Given the description of an element on the screen output the (x, y) to click on. 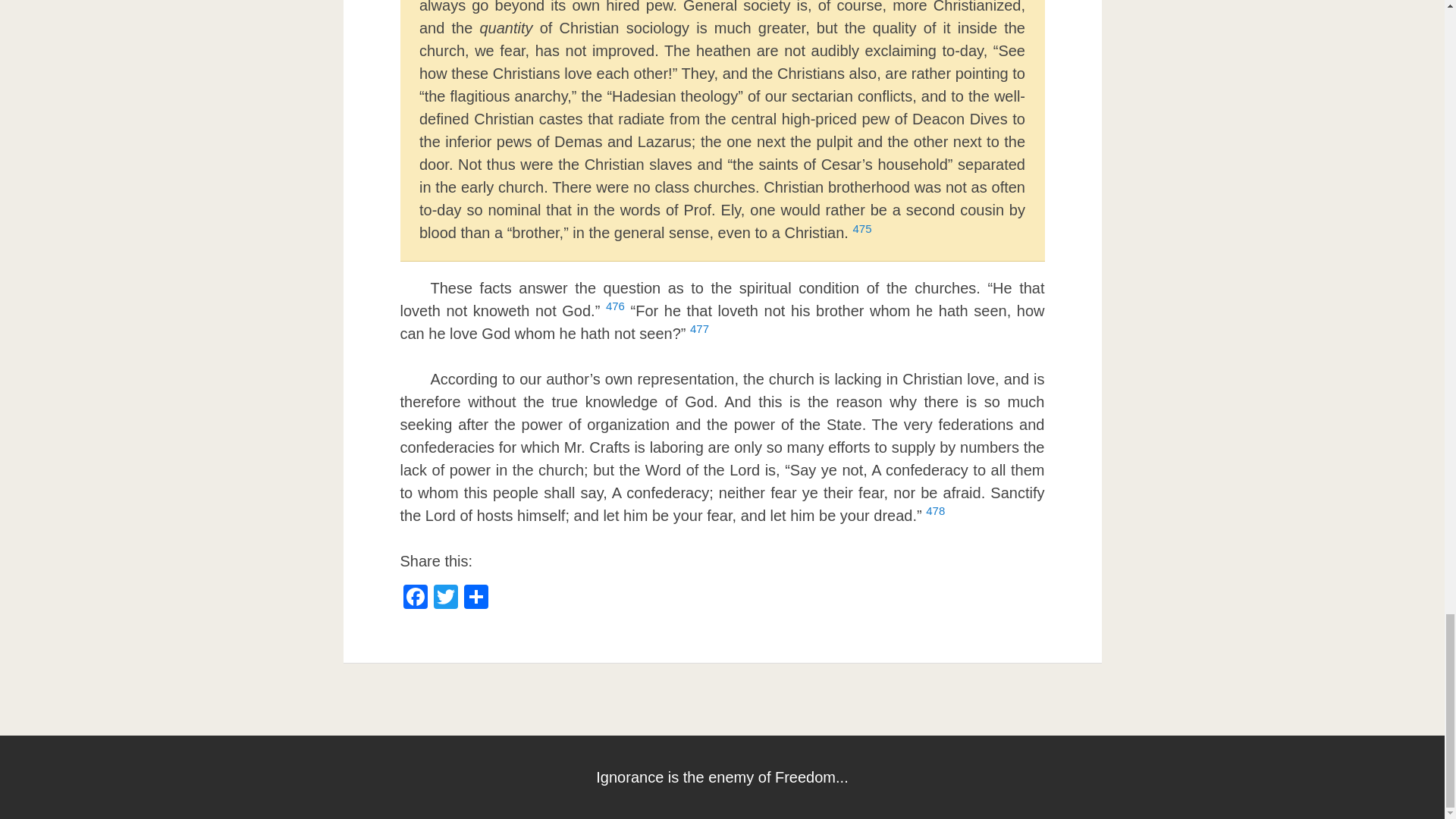
Facebook (415, 598)
478 (935, 515)
Twitter (445, 598)
476 (614, 310)
477 (699, 333)
475 (860, 232)
Twitter (445, 598)
Facebook (415, 598)
